Given the description of an element on the screen output the (x, y) to click on. 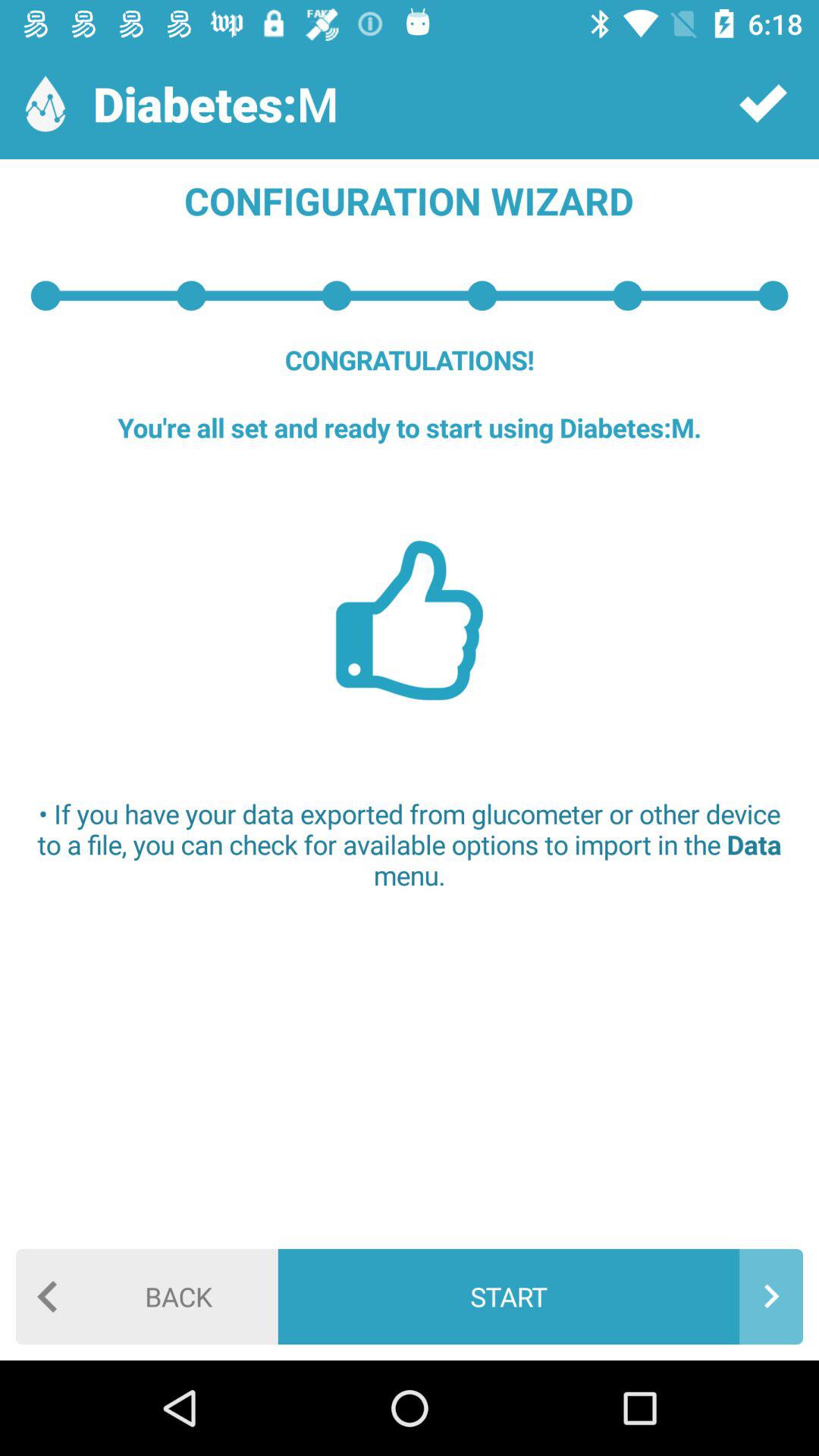
swipe until back icon (146, 1296)
